Given the description of an element on the screen output the (x, y) to click on. 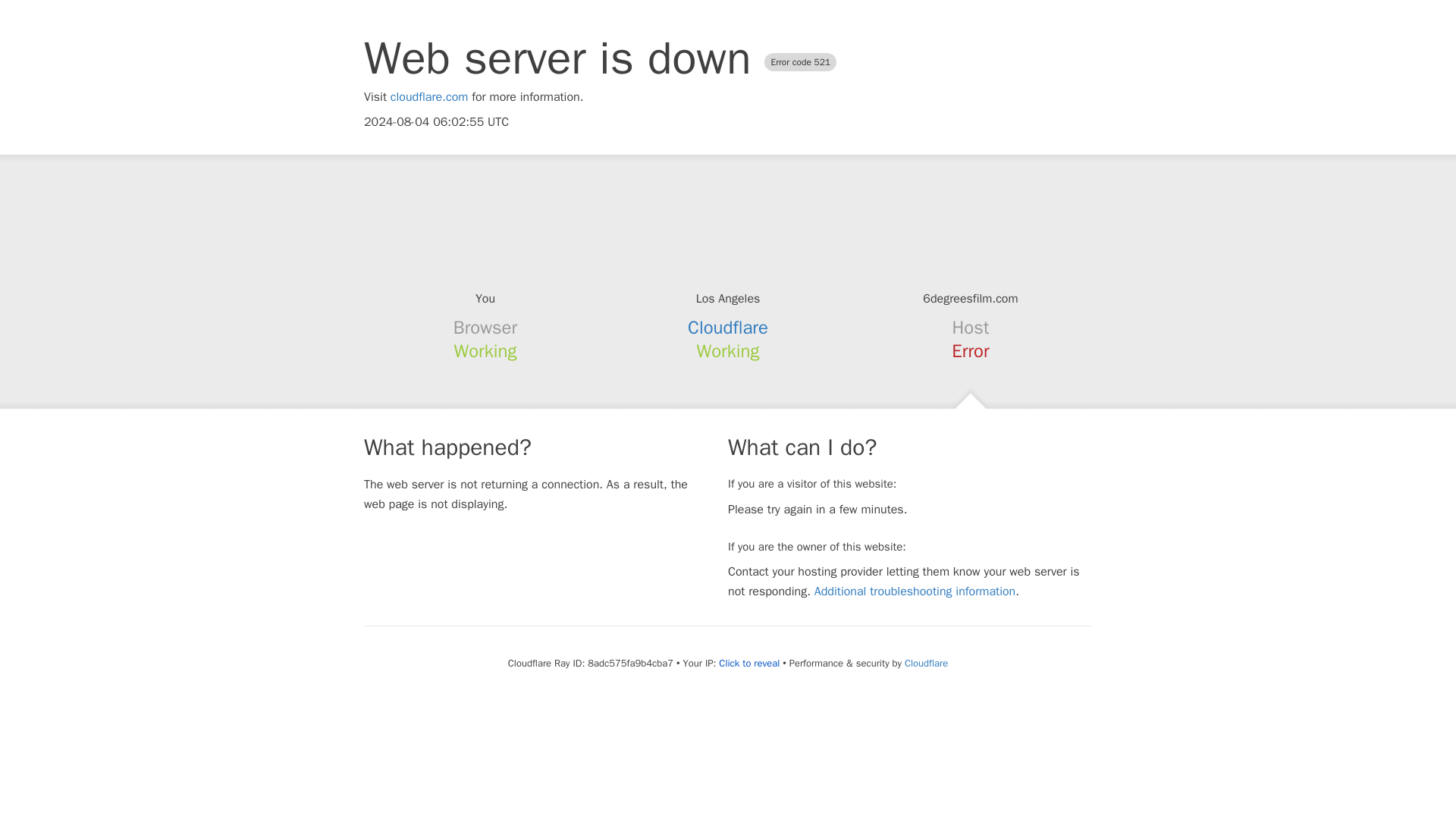
Cloudflare (727, 327)
Additional troubleshooting information (913, 590)
Cloudflare (925, 662)
Click to reveal (748, 663)
cloudflare.com (429, 96)
